Given the description of an element on the screen output the (x, y) to click on. 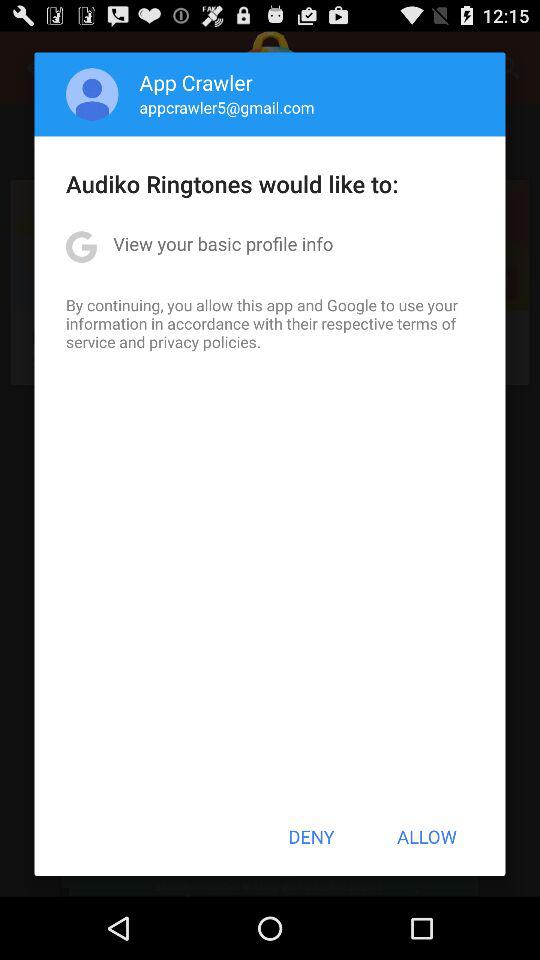
open the app below app crawler (226, 107)
